Given the description of an element on the screen output the (x, y) to click on. 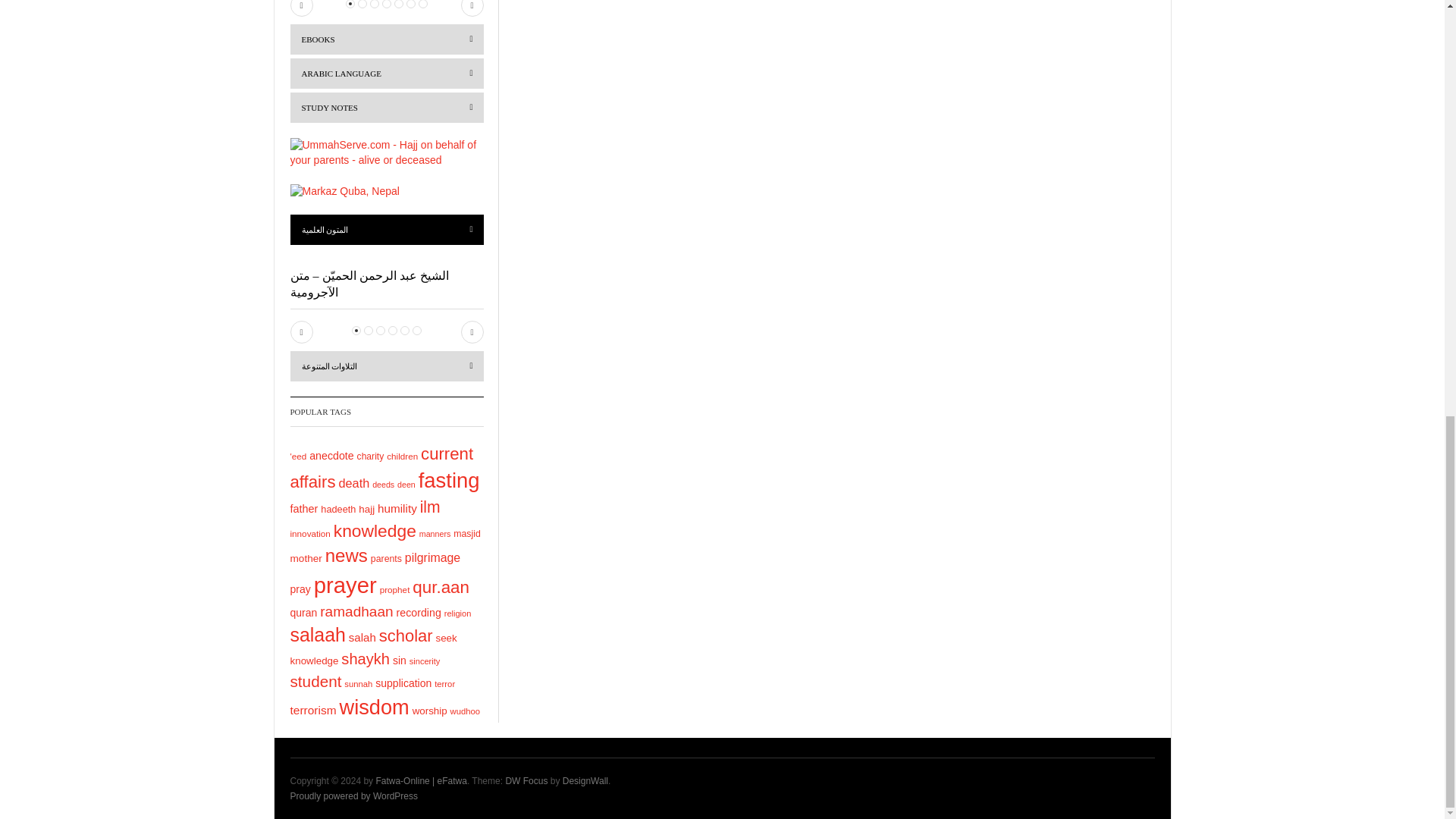
Markaz Quba, Nepal (343, 191)
WordPress News Theme (526, 780)
